Given the description of an element on the screen output the (x, y) to click on. 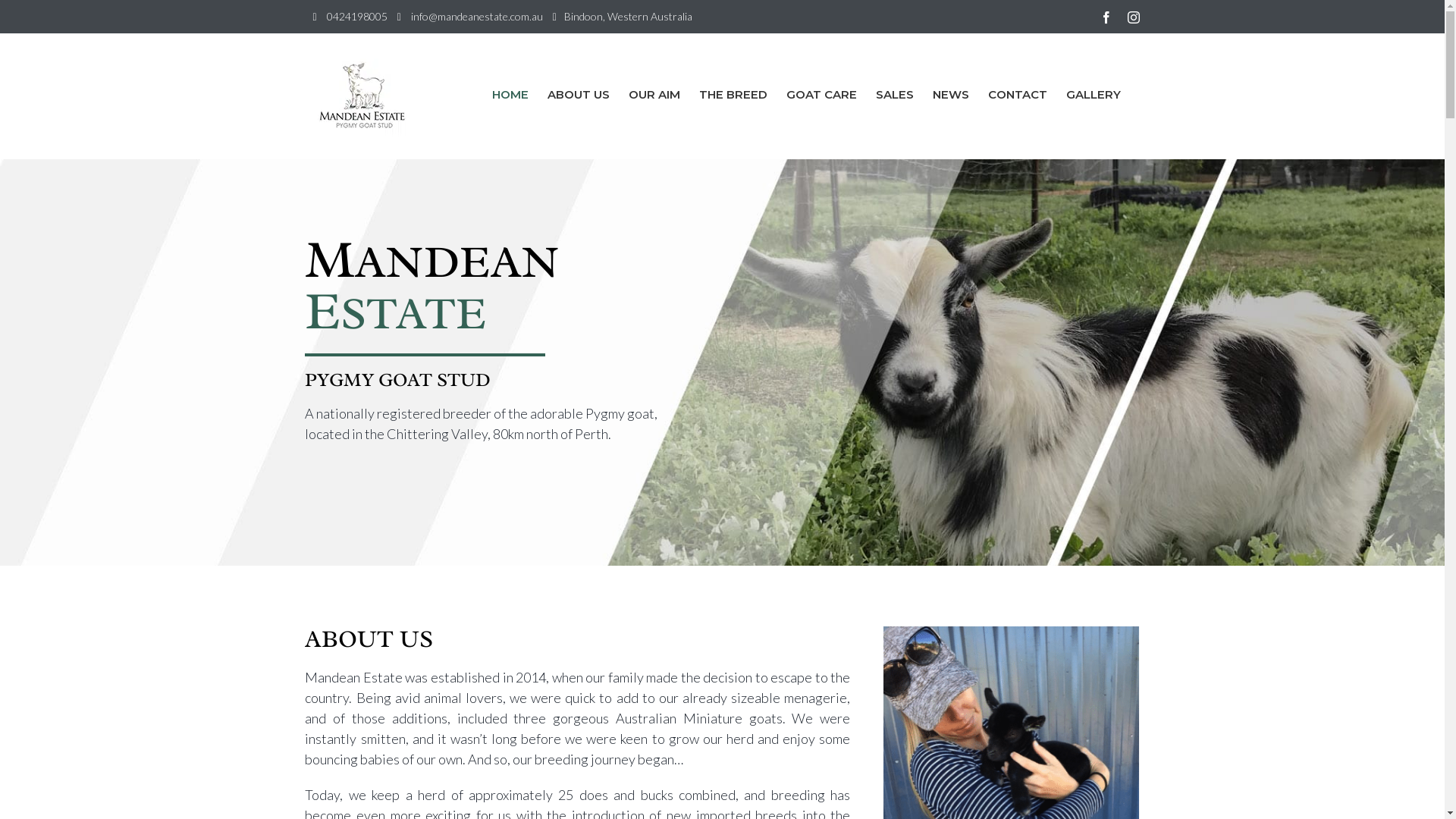
Facebook Element type: text (1105, 17)
HOME Element type: text (509, 93)
info@mandeanestate.com.au Element type: text (476, 15)
NEWS Element type: text (950, 93)
OUR AIM Element type: text (653, 93)
THE BREED Element type: text (733, 93)
SALES Element type: text (894, 93)
GOAT CARE Element type: text (820, 93)
Instagram Element type: text (1132, 17)
CONTACT Element type: text (1016, 93)
GALLERY Element type: text (1093, 93)
0424198005 Element type: text (355, 15)
ABOUT US Element type: text (578, 93)
